Given the description of an element on the screen output the (x, y) to click on. 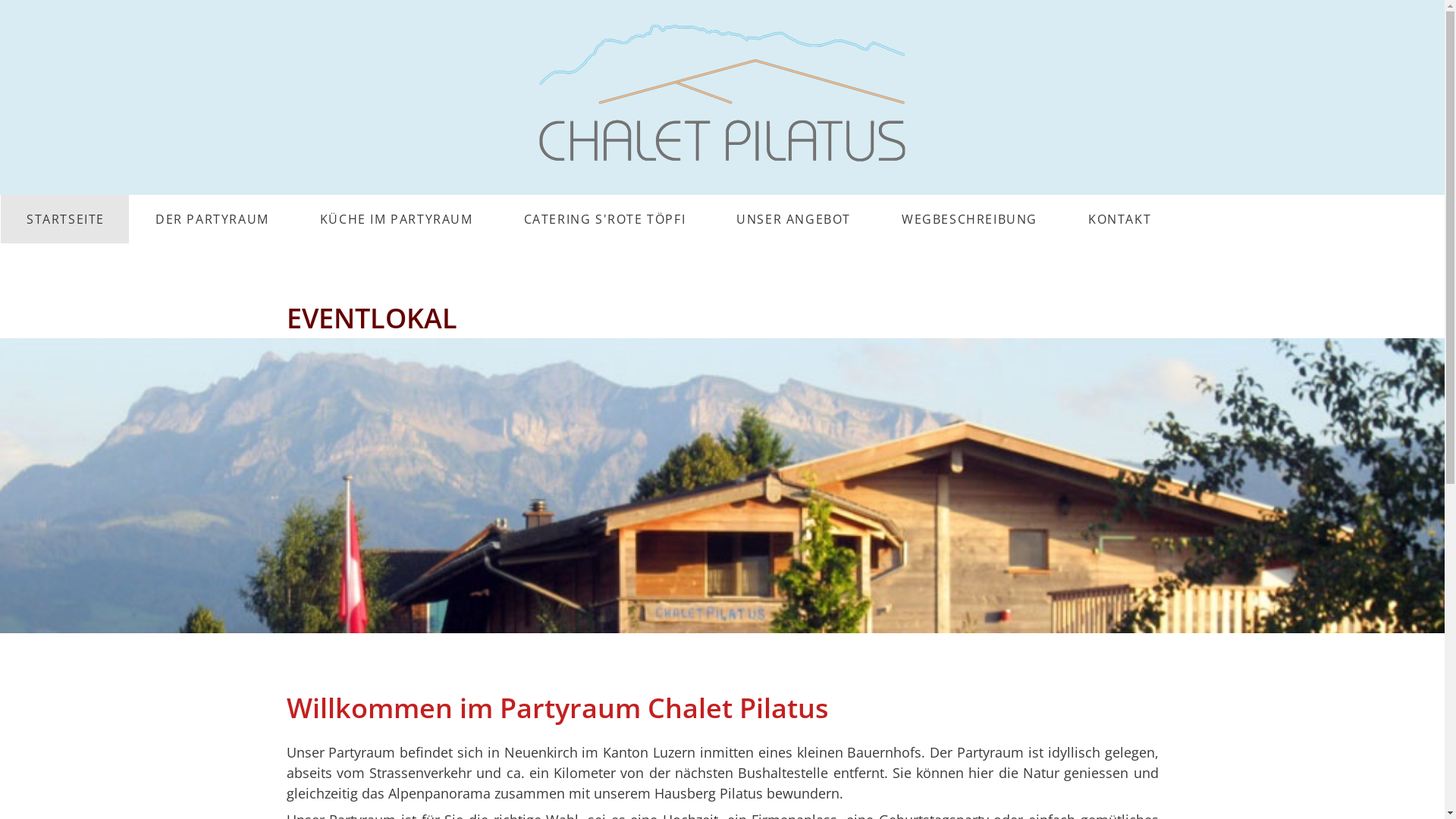
UNSER ANGEBOT Element type: text (792, 218)
STARTSEITE Element type: text (64, 218)
WEGBESCHREIBUNG Element type: text (968, 218)
DER PARTYRAUM Element type: text (211, 218)
KONTAKT Element type: text (1118, 218)
